Given the description of an element on the screen output the (x, y) to click on. 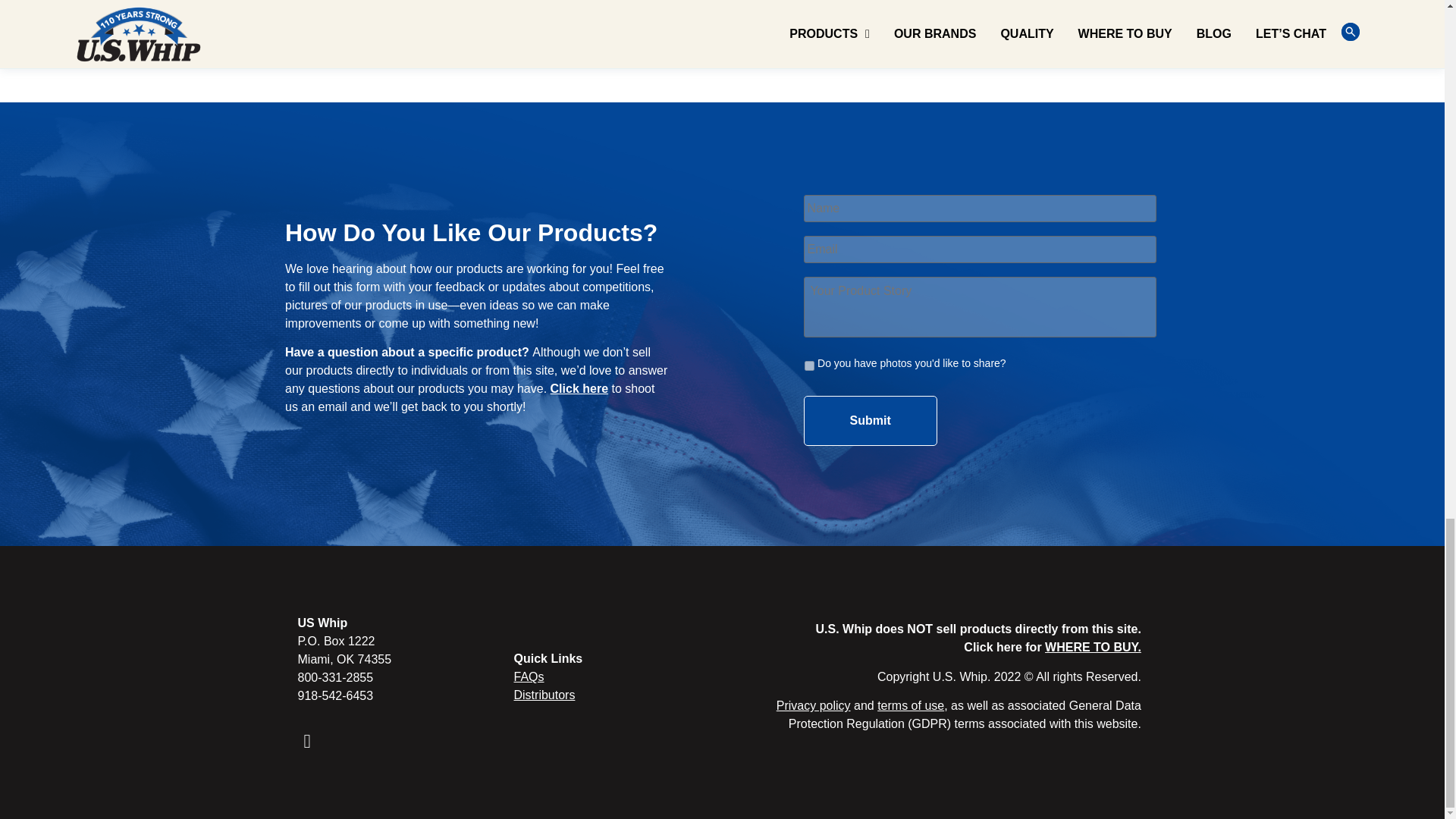
Do you have photos you'd like to share? (809, 366)
Submit (870, 420)
